Given the description of an element on the screen output the (x, y) to click on. 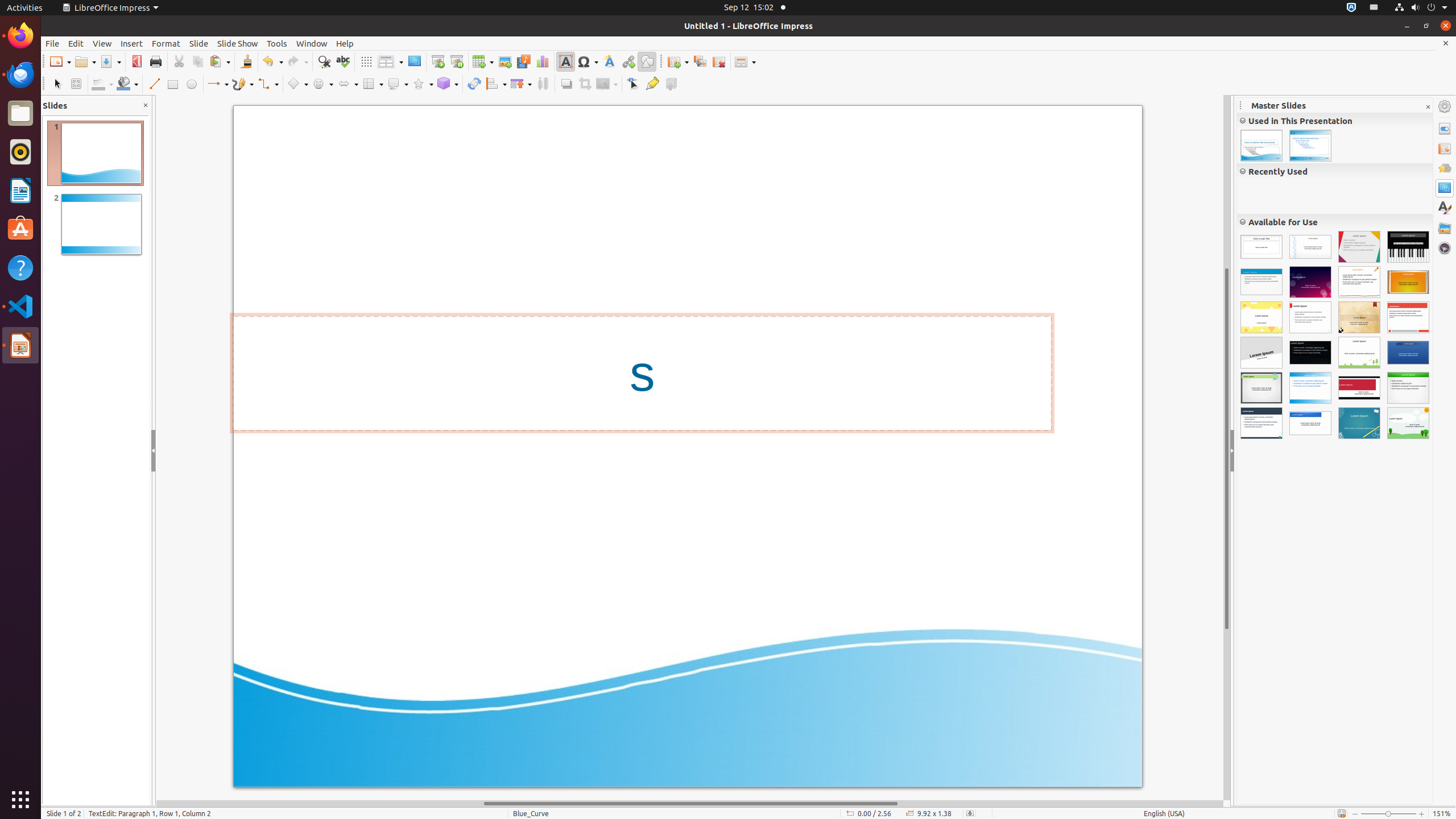
Vintage Element type: list-item (1358, 316)
Thunderbird Mail Element type: push-button (20, 74)
Draw Functions Element type: toggle-button (646, 61)
Redo Element type: push-button (296, 61)
